Given the description of an element on the screen output the (x, y) to click on. 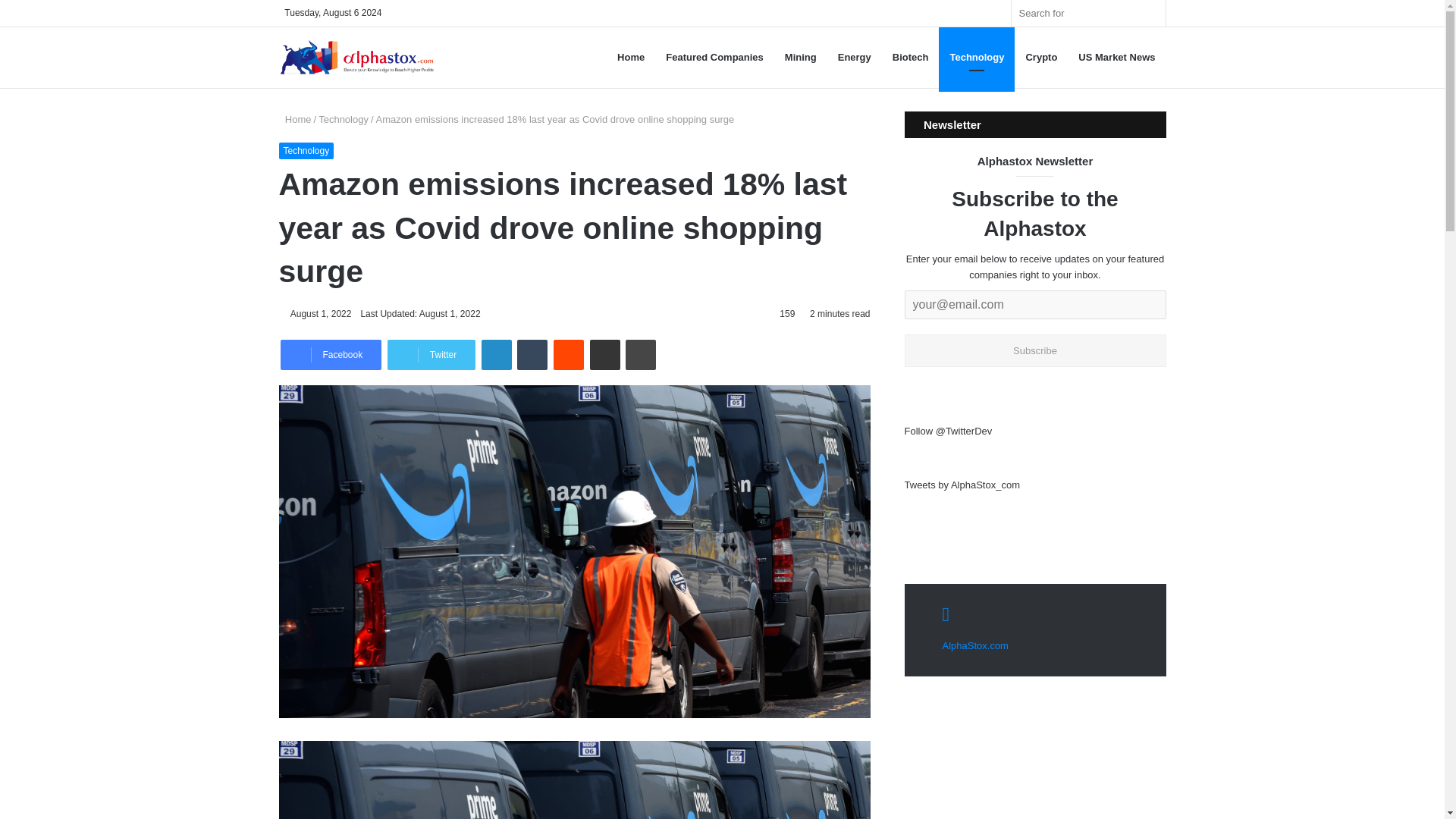
LinkedIn (496, 354)
Share via Email (604, 354)
Search for (1149, 13)
Tumblr (531, 354)
Print (641, 354)
Twitter (431, 354)
Reddit (568, 354)
Share via Email (604, 354)
Print (641, 354)
Tumblr (531, 354)
Technology (976, 57)
Facebook (331, 354)
Facebook (331, 354)
Biotech (910, 57)
Alphastox (356, 57)
